Given the description of an element on the screen output the (x, y) to click on. 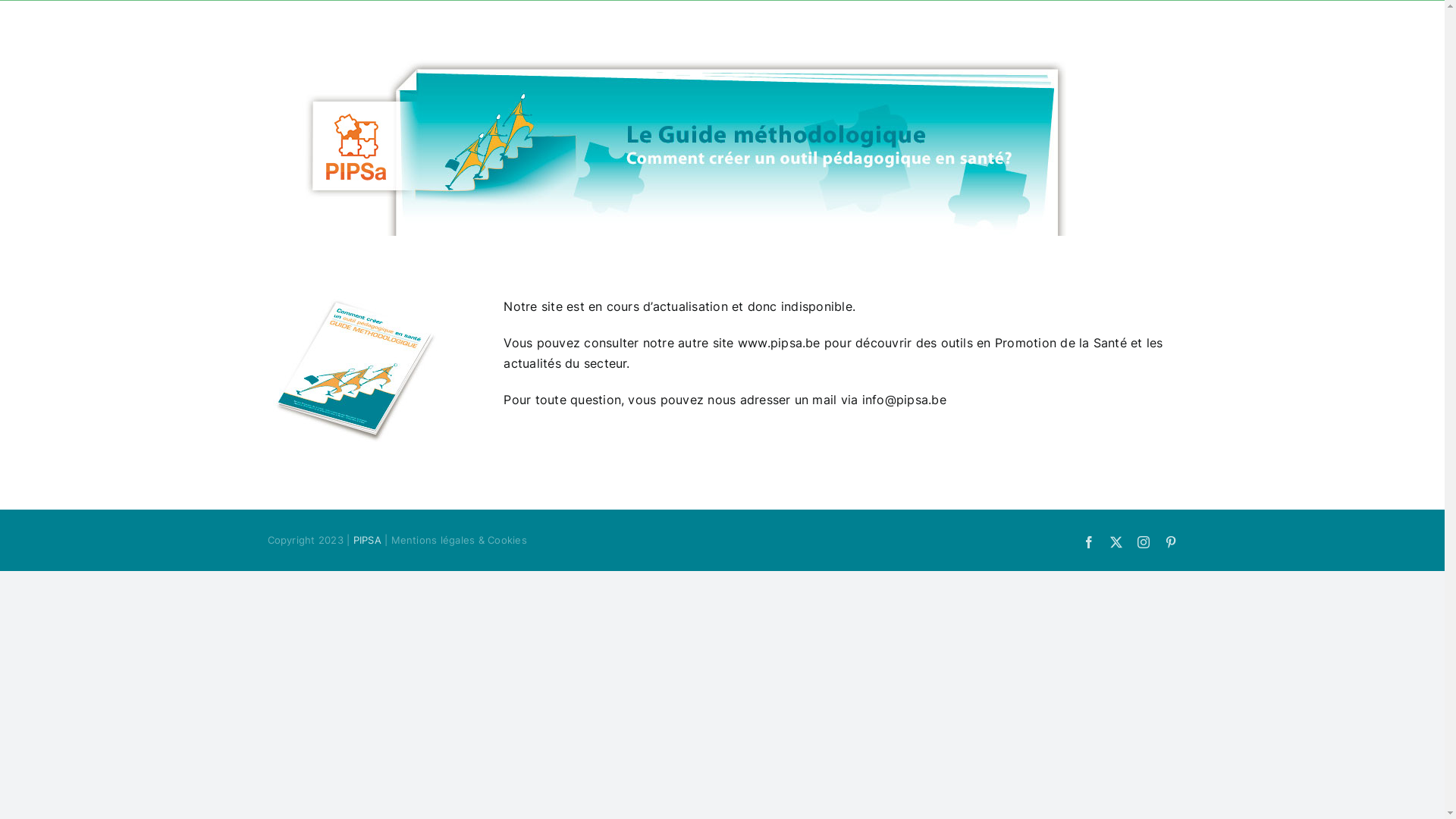
Instagram Element type: text (1143, 542)
PIPSA Element type: text (367, 539)
Pinterest Element type: text (1170, 542)
header Element type: hover (722, 141)
Facebook Element type: text (1088, 542)
www.pipsa.be Element type: text (778, 342)
guide-methodologique Element type: hover (361, 372)
Twitter Element type: text (1116, 542)
info@pipsa.be Element type: text (904, 399)
